Given the description of an element on the screen output the (x, y) to click on. 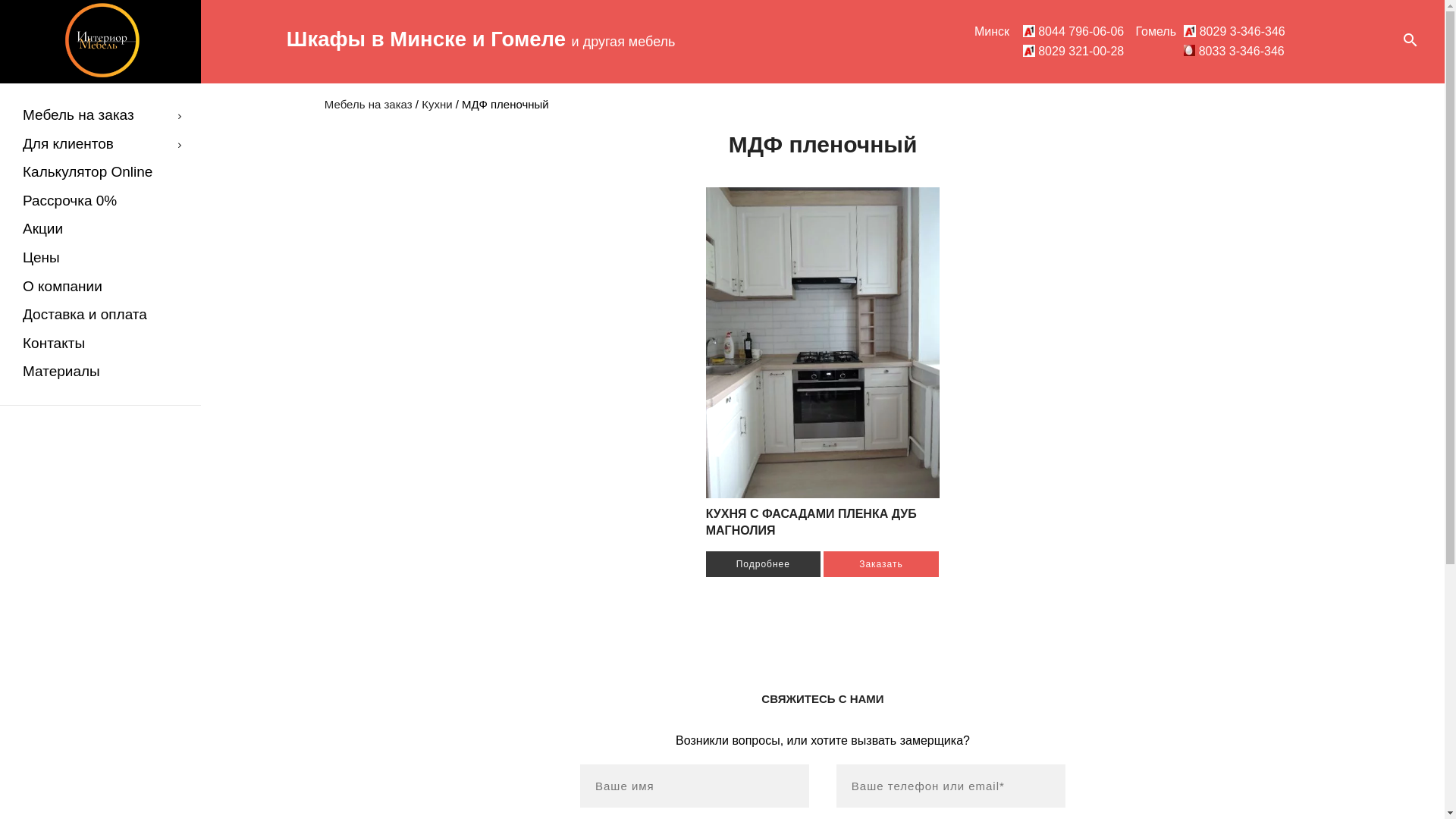
8029 321-00-28 Element type: text (1072, 50)
8033 3-346-346 Element type: text (1233, 50)
DSCN0669 Element type: hover (823, 342)
8044 796-06-06 Element type: text (1072, 31)
search Element type: text (1410, 41)
8029 3-346-346 Element type: text (1233, 31)
